Given the description of an element on the screen output the (x, y) to click on. 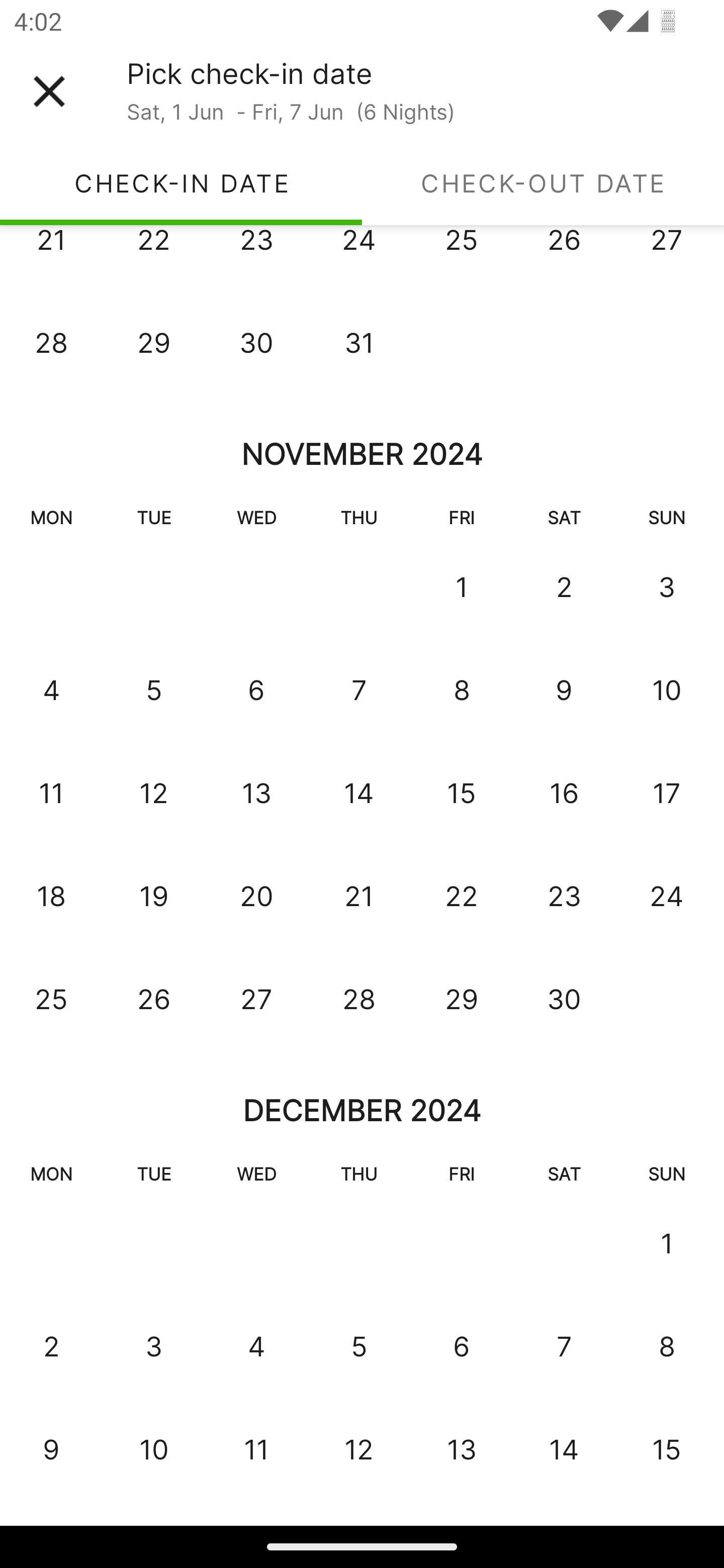
Check-out Date CHECK-OUT DATE (543, 183)
